Given the description of an element on the screen output the (x, y) to click on. 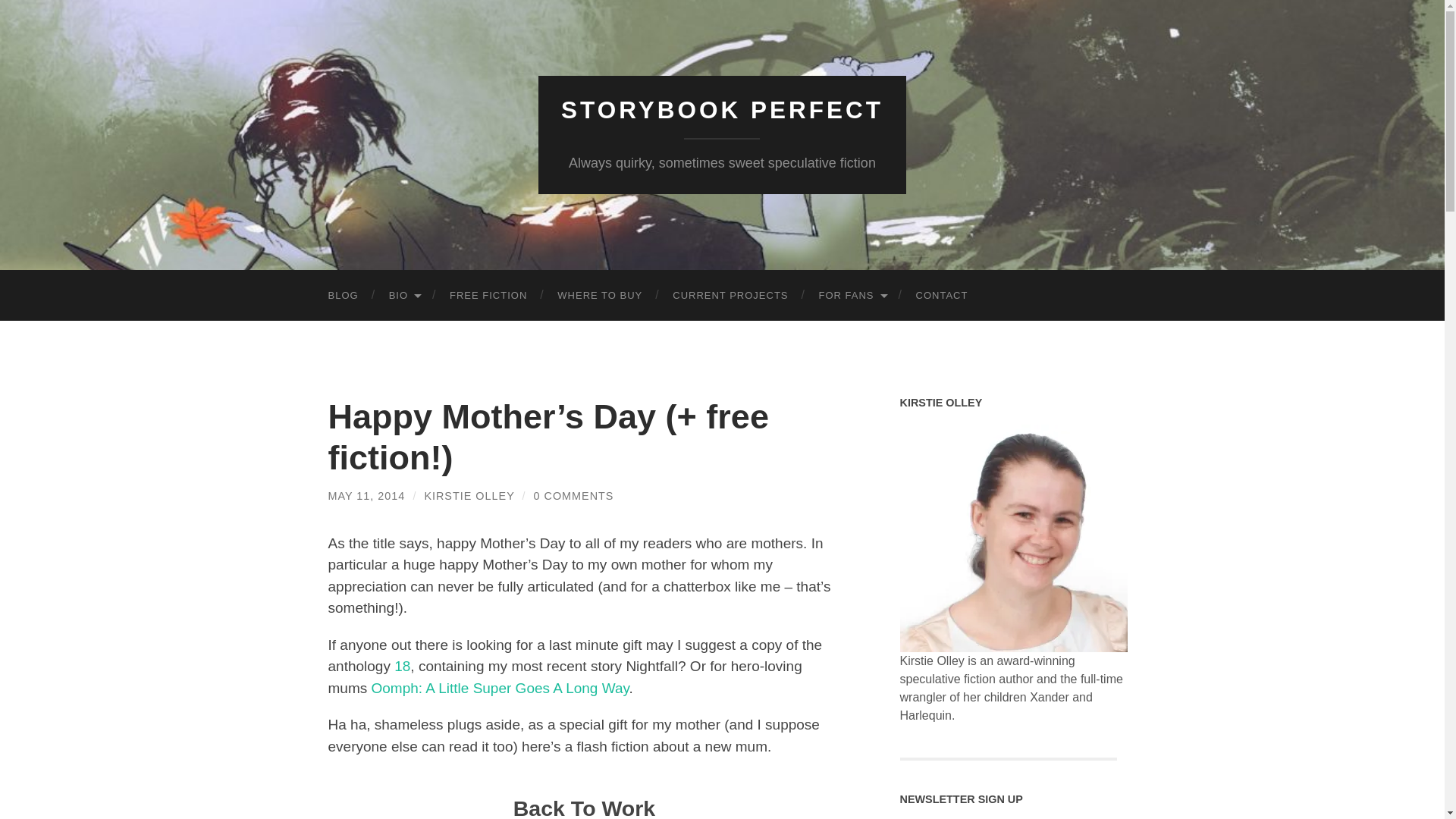
STORYBOOK PERFECT (721, 109)
BLOG (342, 295)
BIO (403, 295)
You can buy Oomph from here (499, 688)
CURRENT PROJECTS (730, 295)
FREE FICTION (487, 295)
Buy '18' from Amazon now! (402, 666)
Posts by Kirstie Olley (468, 495)
WHERE TO BUY (599, 295)
FOR FANS (852, 295)
